Given the description of an element on the screen output the (x, y) to click on. 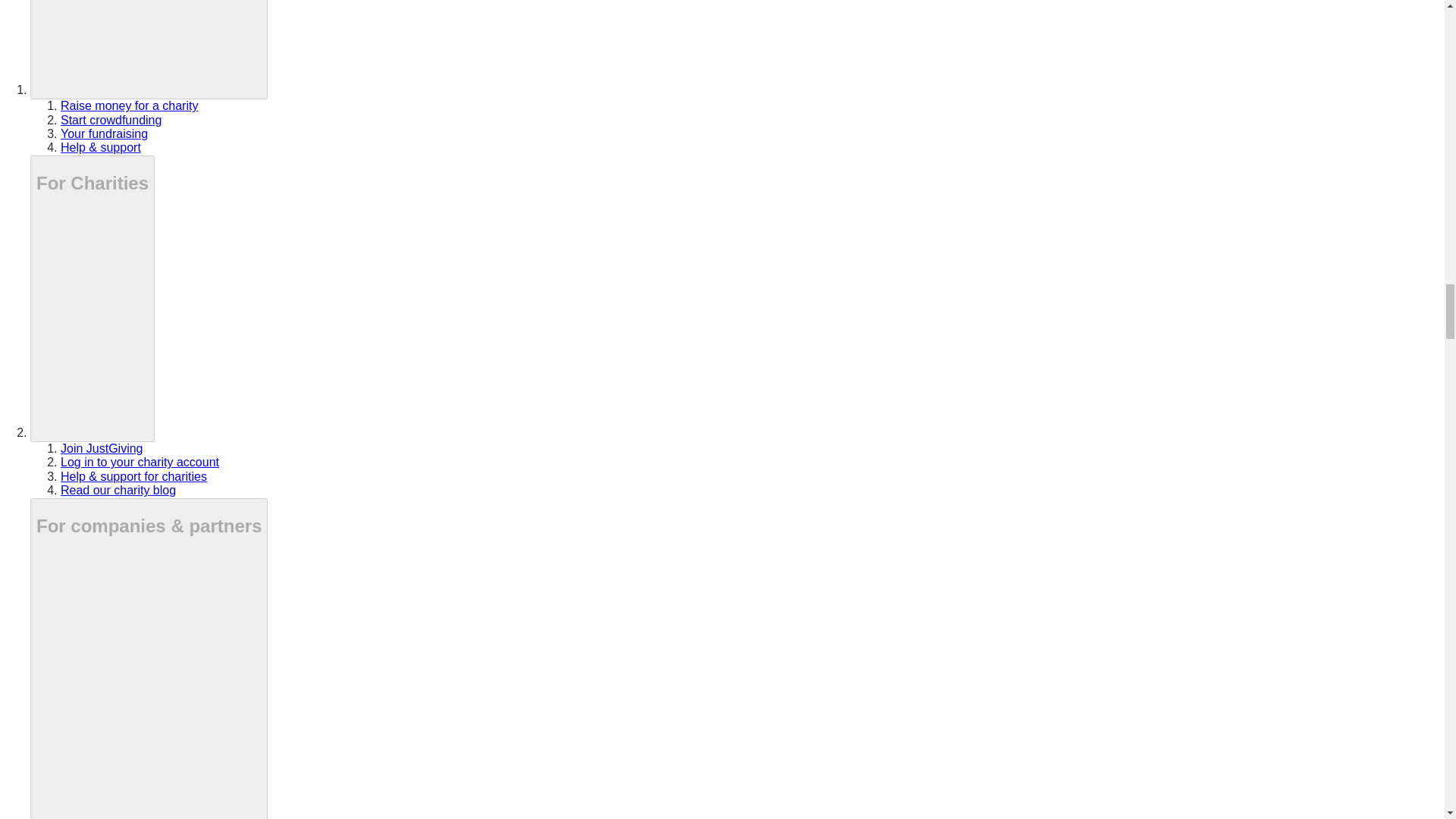
Raise money for a charity (129, 105)
Your fundraising (104, 133)
Read our charity blog (118, 490)
Log in to your charity account (140, 461)
Start crowdfunding (111, 119)
Join JustGiving (101, 448)
